Given the description of an element on the screen output the (x, y) to click on. 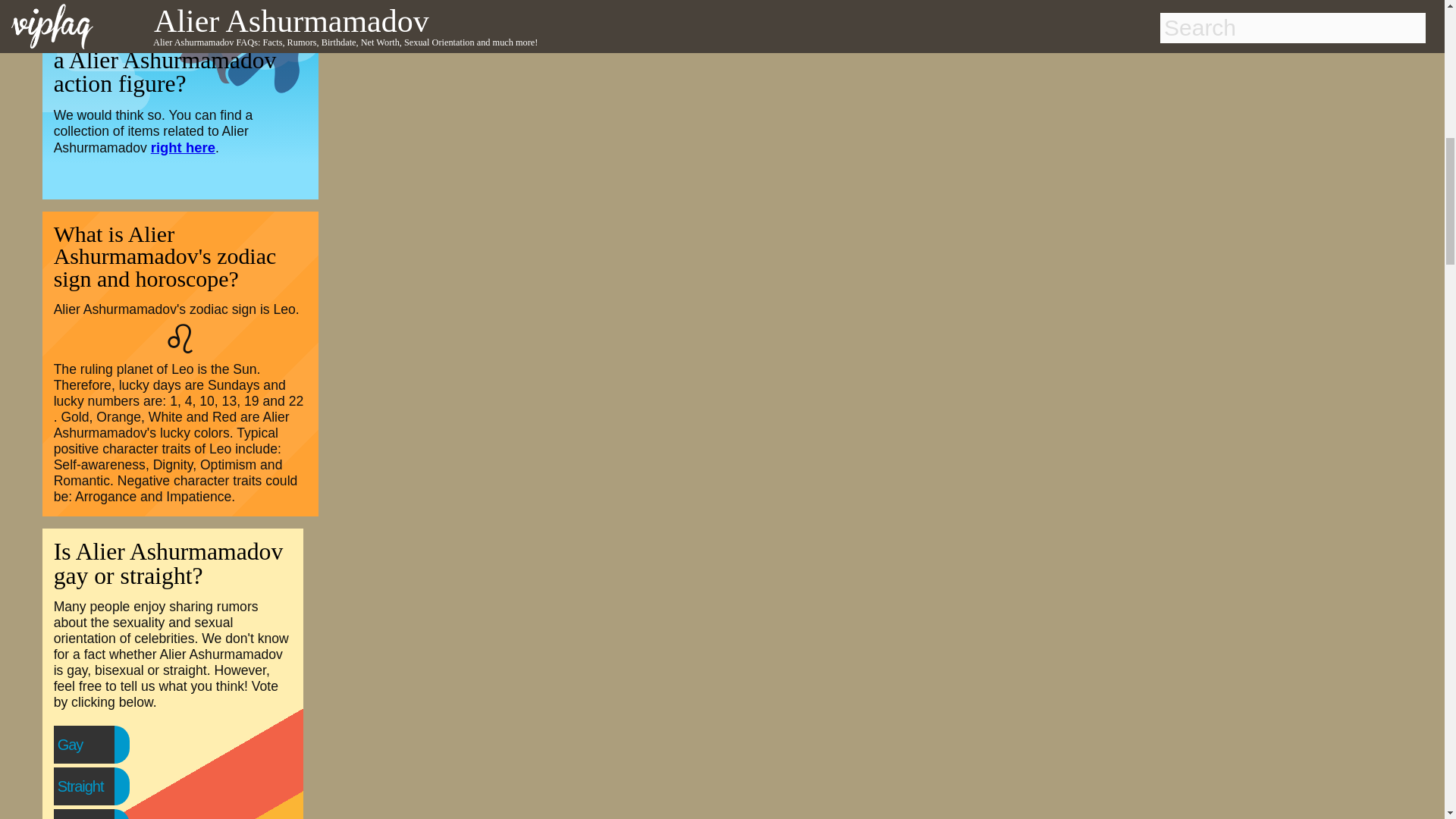
right here (183, 147)
Bi (94, 815)
Straight (111, 786)
Gay (101, 744)
